Given the description of an element on the screen output the (x, y) to click on. 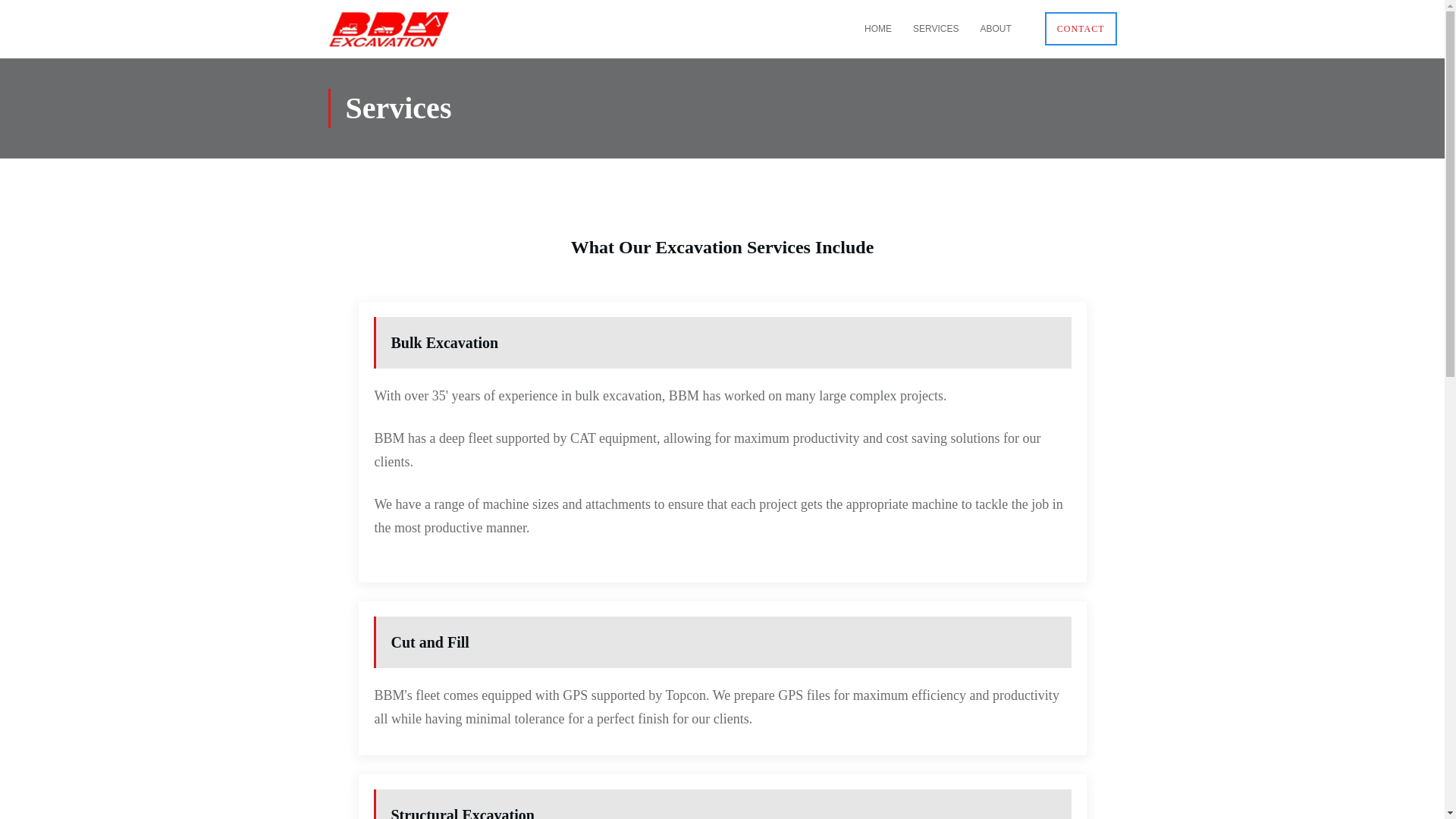
CONTACT (1081, 28)
SERVICES (935, 28)
HOME (877, 28)
ABOUT (994, 28)
